Given the description of an element on the screen output the (x, y) to click on. 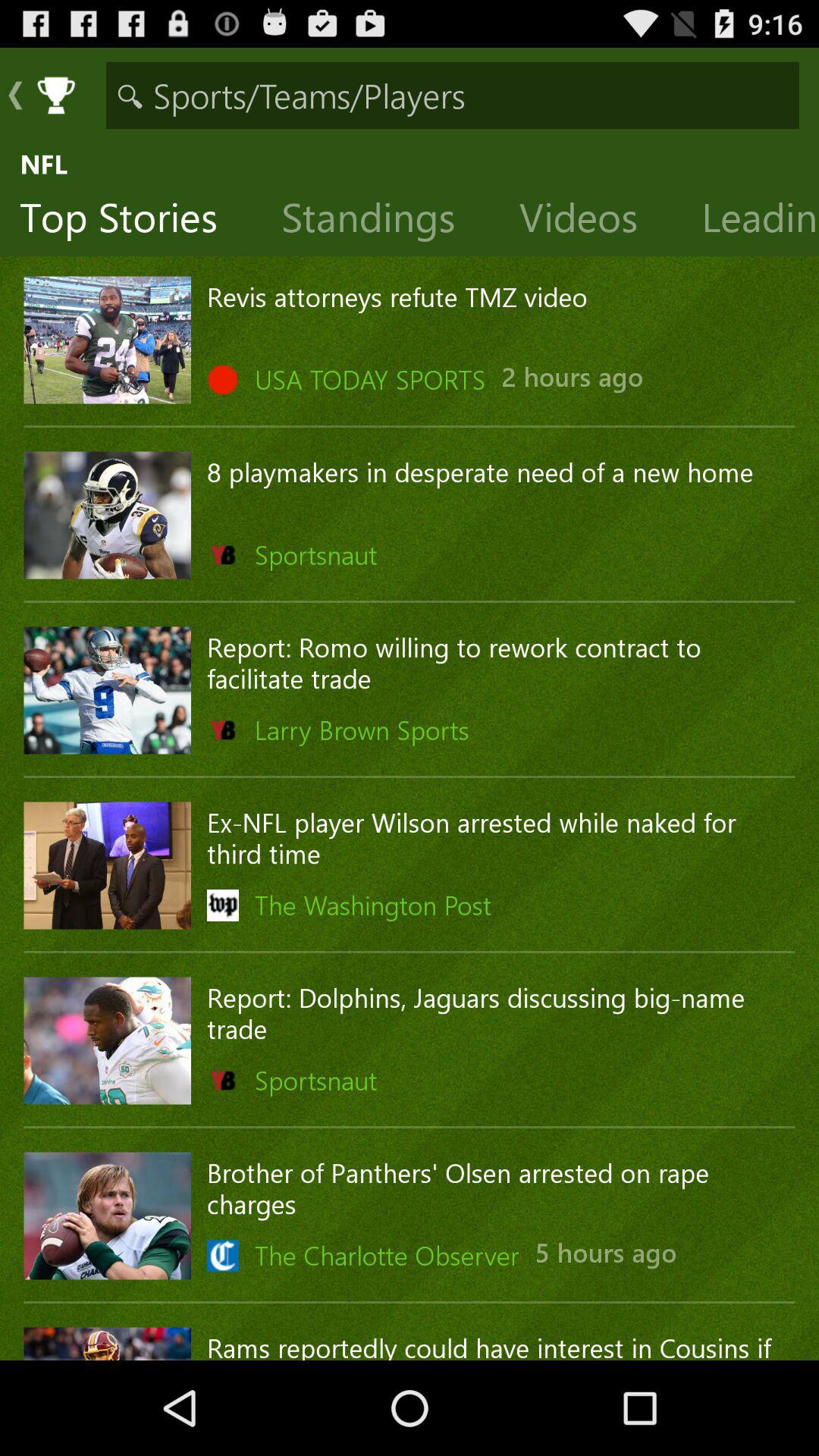
press the icon to the left of the standings (130, 220)
